Given the description of an element on the screen output the (x, y) to click on. 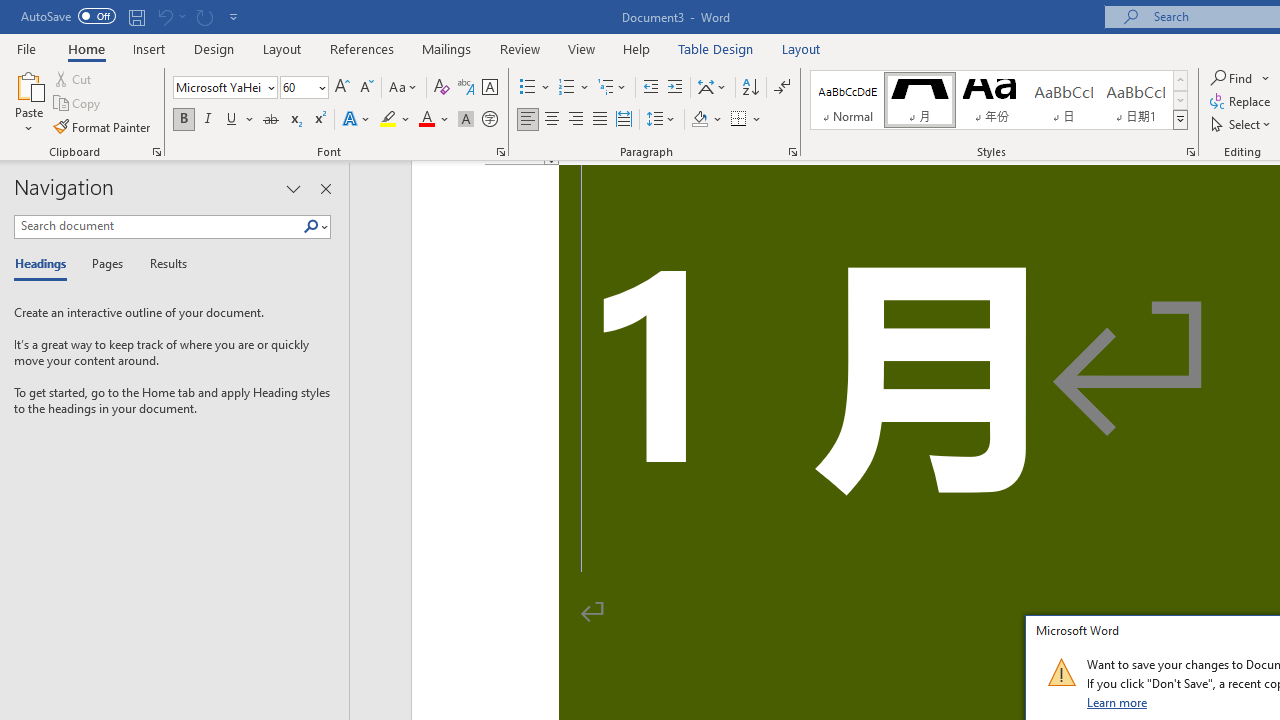
Customize Quick Access Toolbar (234, 15)
Help (637, 48)
Paste (28, 84)
Office Clipboard... (156, 151)
Search (311, 227)
Can't Repeat (204, 15)
Text Effects and Typography (357, 119)
Quick Access Toolbar (131, 16)
Search (315, 227)
View (582, 48)
Enclose Characters... (489, 119)
Text Highlight Color Yellow (388, 119)
Font Size (297, 87)
Learn more (1118, 702)
